Given the description of an element on the screen output the (x, y) to click on. 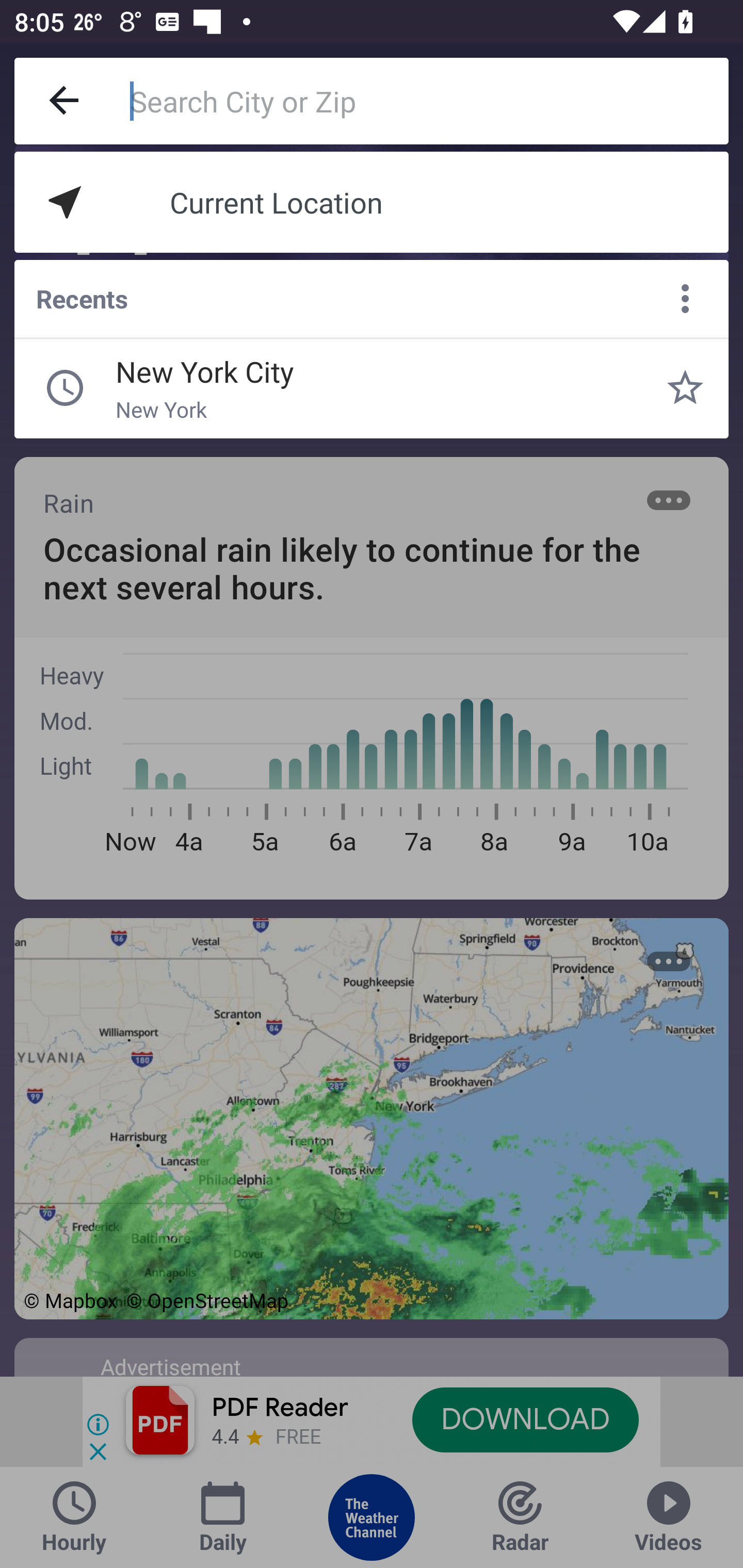
Back (64, 101)
Search City or Zip (429, 100)
Current Location (371, 202)
more (685, 298)
New York City New York Add to favorites (684, 387)
